Given the description of an element on the screen output the (x, y) to click on. 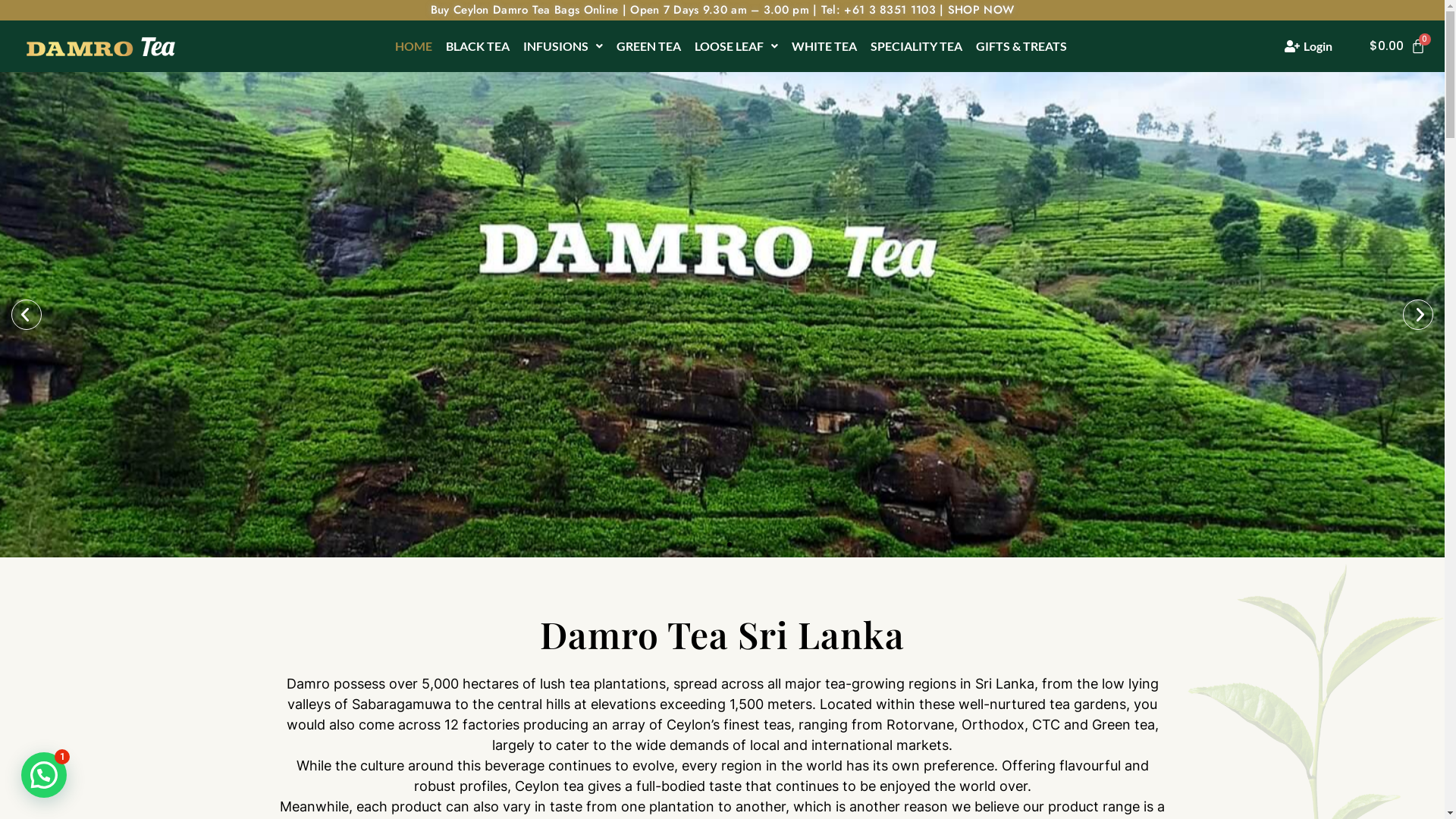
$0.00 Element type: text (1397, 45)
GREEN TEA Element type: text (648, 45)
SPECIALITY TEA Element type: text (916, 45)
Login Element type: text (1308, 45)
INFUSIONS Element type: text (562, 45)
WHITE TEA Element type: text (823, 45)
GIFTS & TREATS Element type: text (1021, 45)
SHOP NOW Element type: text (980, 9)
HOME Element type: text (413, 45)
BLACK TEA Element type: text (477, 45)
LOOSE LEAF Element type: text (735, 45)
